Given the description of an element on the screen output the (x, y) to click on. 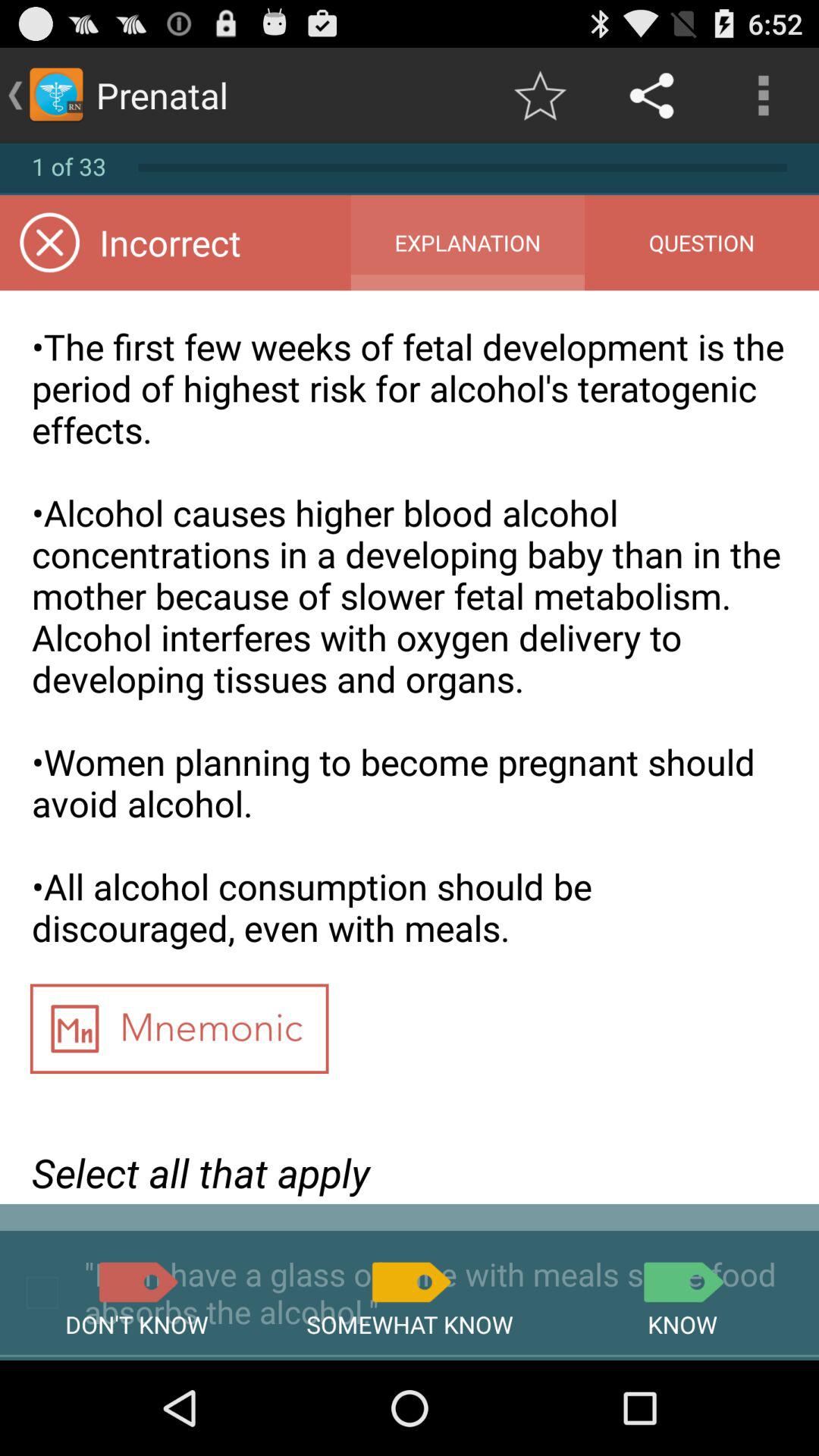
press app next to incorrect item (467, 242)
